Given the description of an element on the screen output the (x, y) to click on. 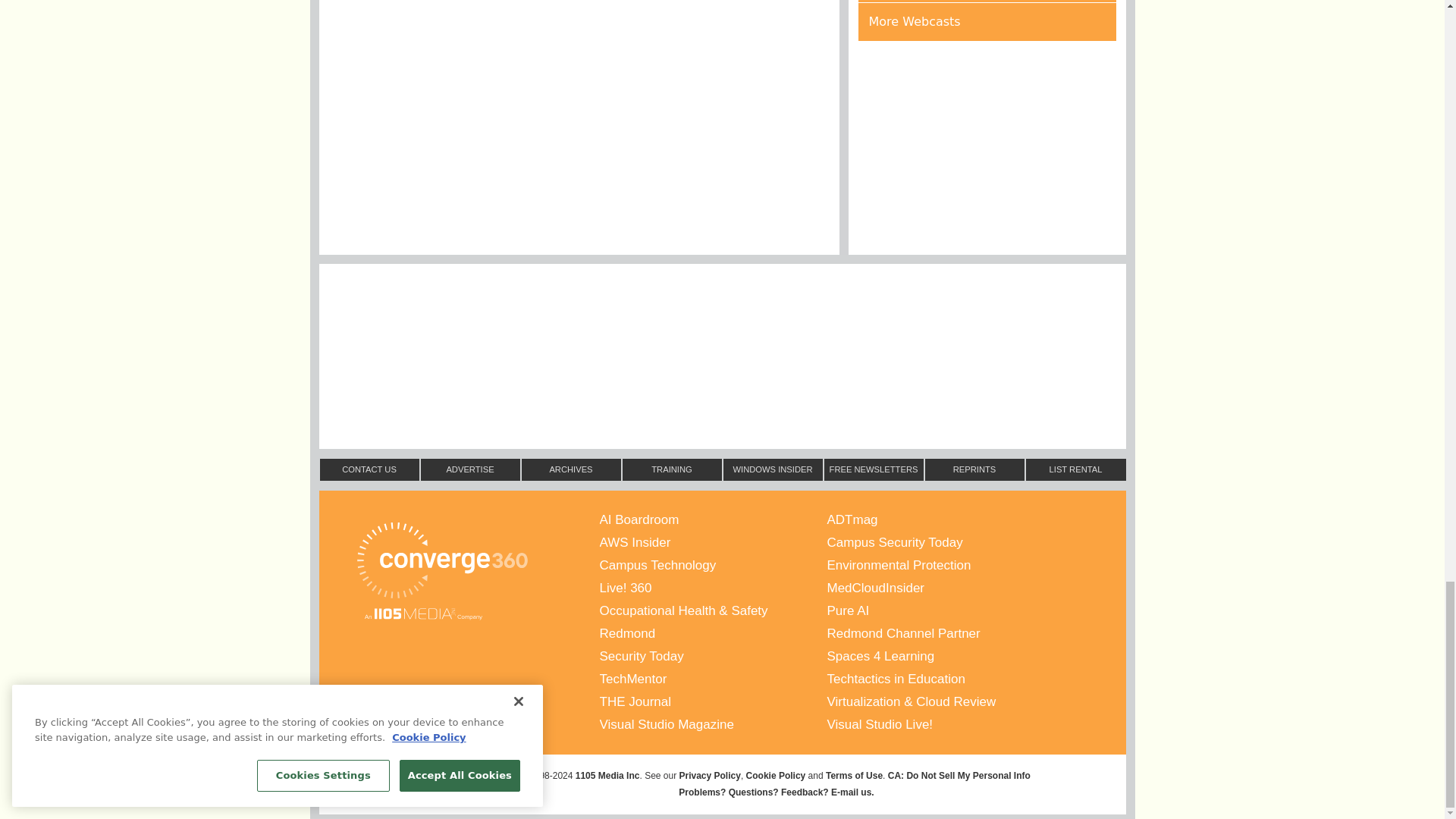
3rd party ad content (986, 147)
3rd party ad content (721, 390)
3rd party ad content (721, 309)
